Given the description of an element on the screen output the (x, y) to click on. 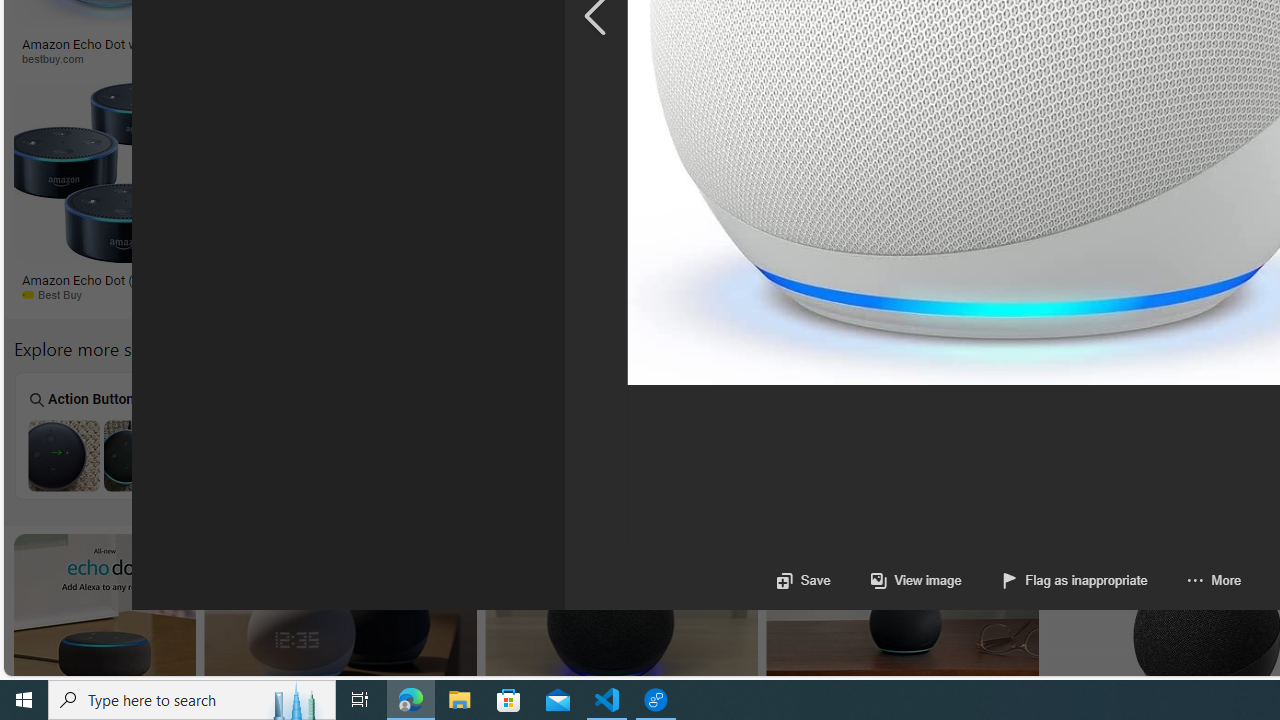
TechRadar (1081, 294)
View image (916, 580)
What Inside (461, 435)
Amazon Echo Dot Owl and Nest (1002, 455)
Save (802, 580)
laptrinhx.com (913, 295)
Image result for Newest Amazon Echo Dot (902, 623)
Amazon Echo Dot Action Button (102, 455)
New Zeeland PC World (311, 295)
